Given the description of an element on the screen output the (x, y) to click on. 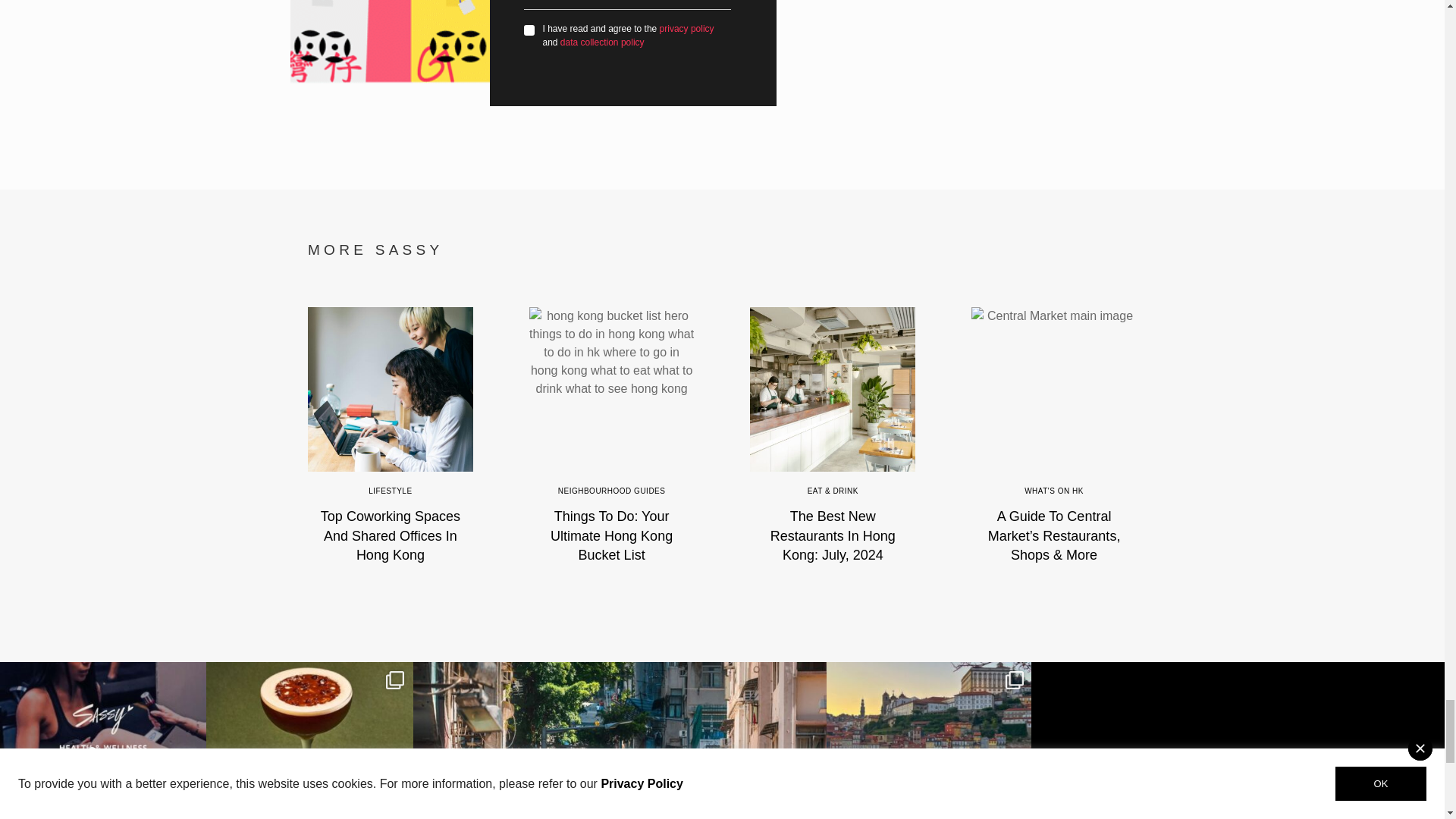
on (529, 30)
Sign Up (697, 2)
